Given the description of an element on the screen output the (x, y) to click on. 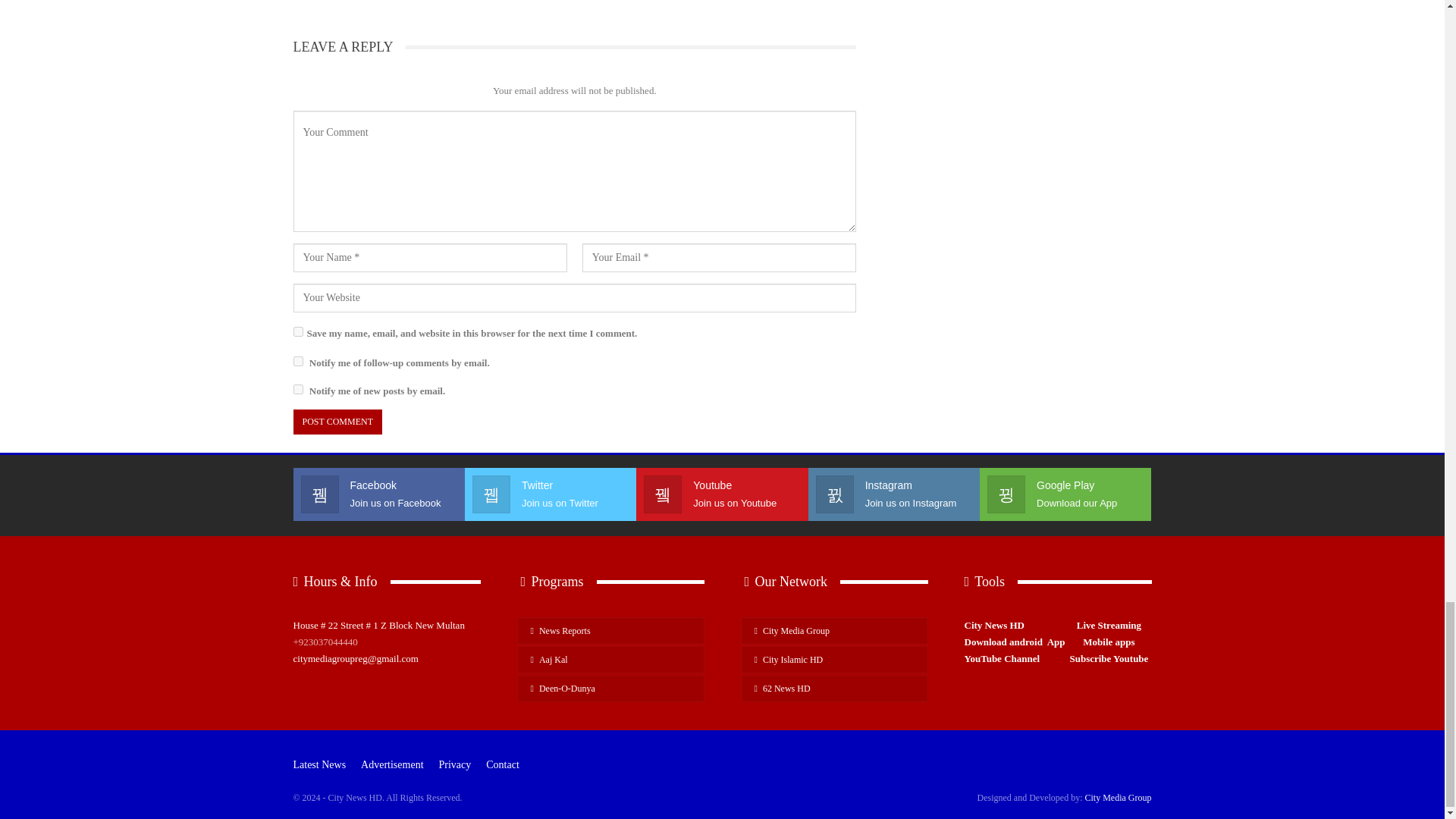
yes (297, 331)
subscribe (297, 388)
subscribe (297, 361)
Post Comment (336, 421)
